Given the description of an element on the screen output the (x, y) to click on. 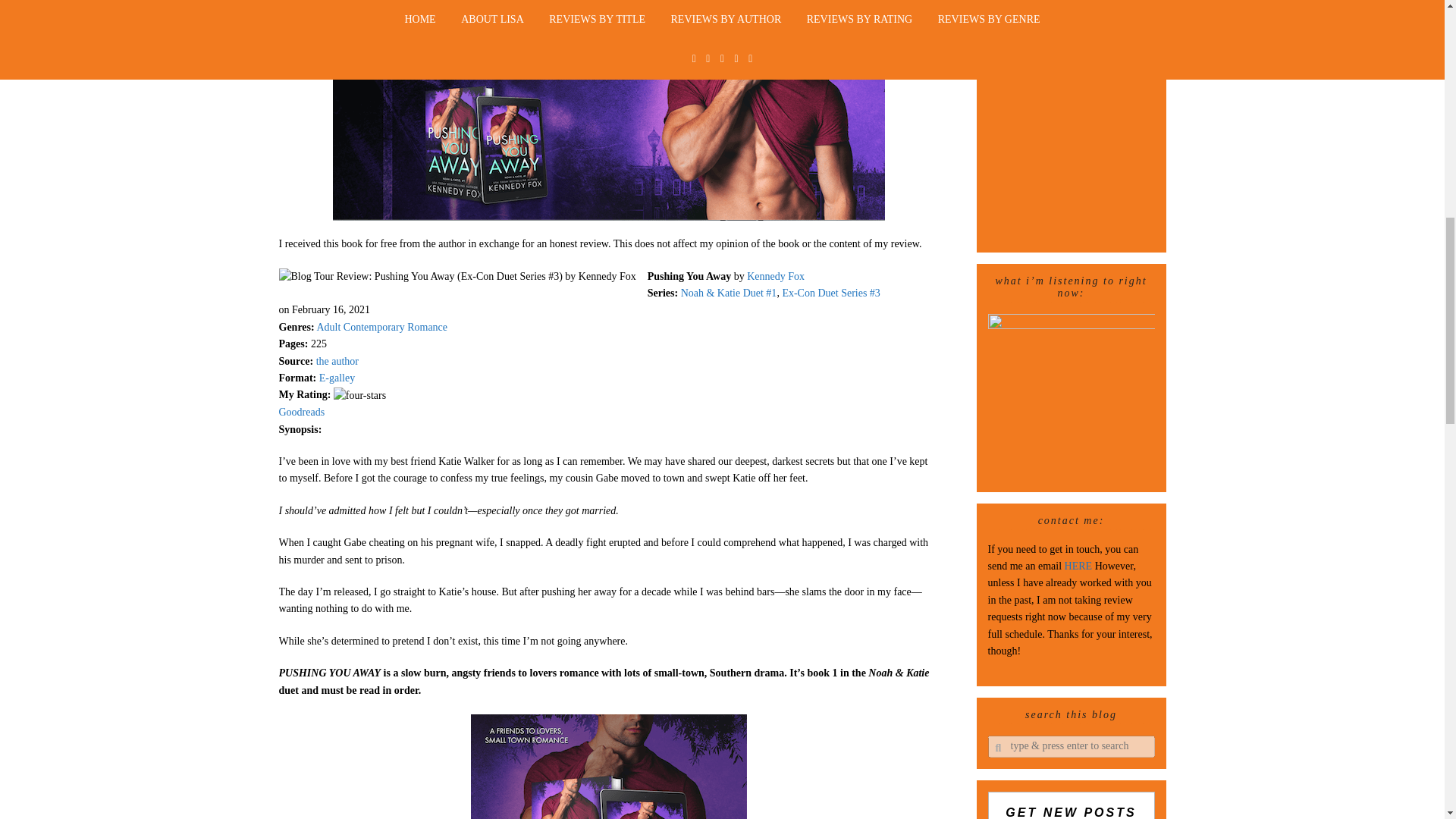
LISA MANDINA (509, 3)
E-galley (336, 378)
Goodreads (301, 411)
Adult Contemporary Romance (380, 326)
0 COMMENTS (749, 3)
the author (336, 360)
View all posts in Review (675, 3)
BLOG TOUR (609, 3)
REVIEW (675, 3)
View all posts in Blog Tour (609, 3)
